Given the description of an element on the screen output the (x, y) to click on. 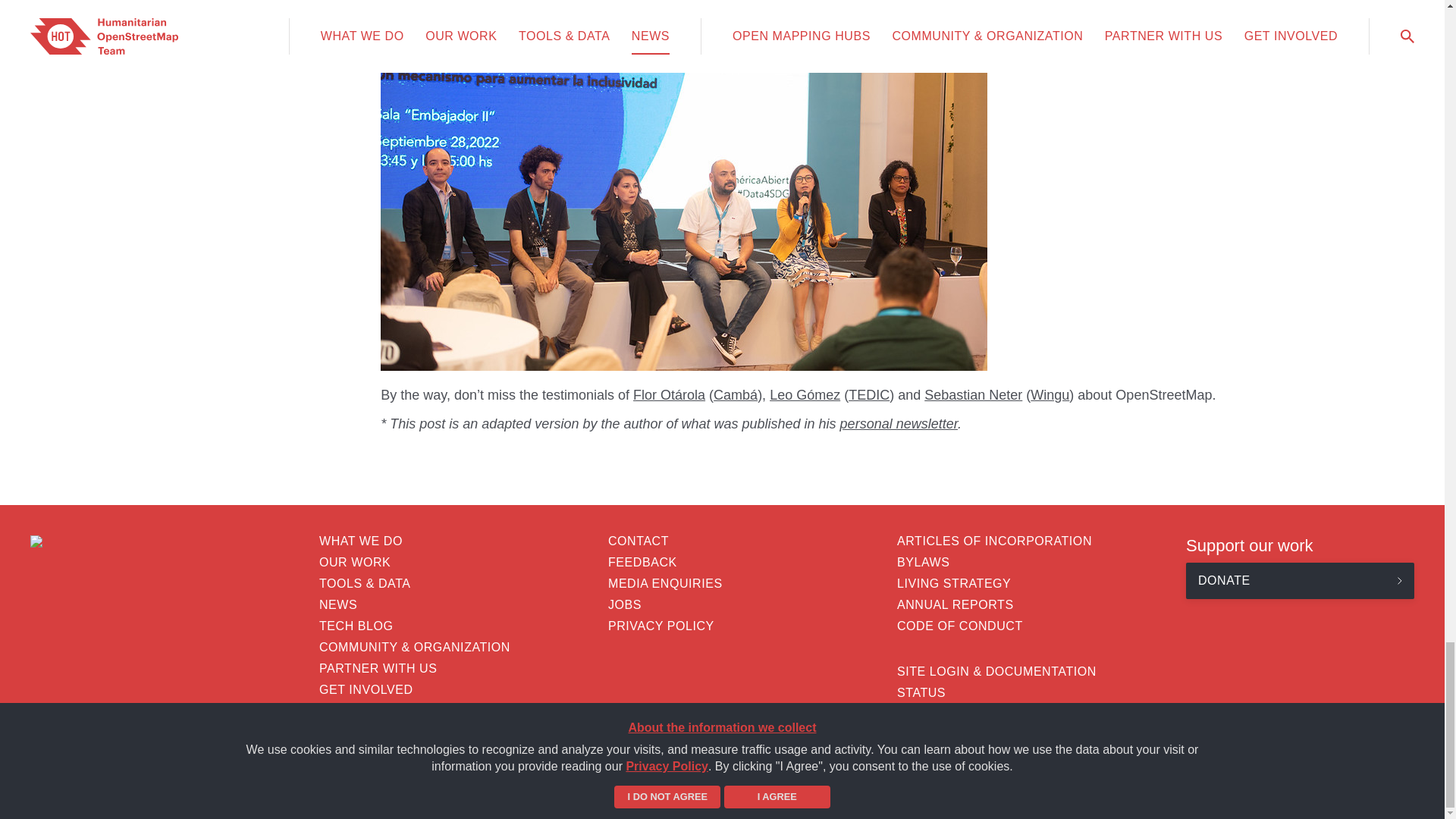
TEDIC (868, 394)
Wingu (1049, 394)
personal newsletter (899, 423)
Sebastian Neter (973, 394)
